Given the description of an element on the screen output the (x, y) to click on. 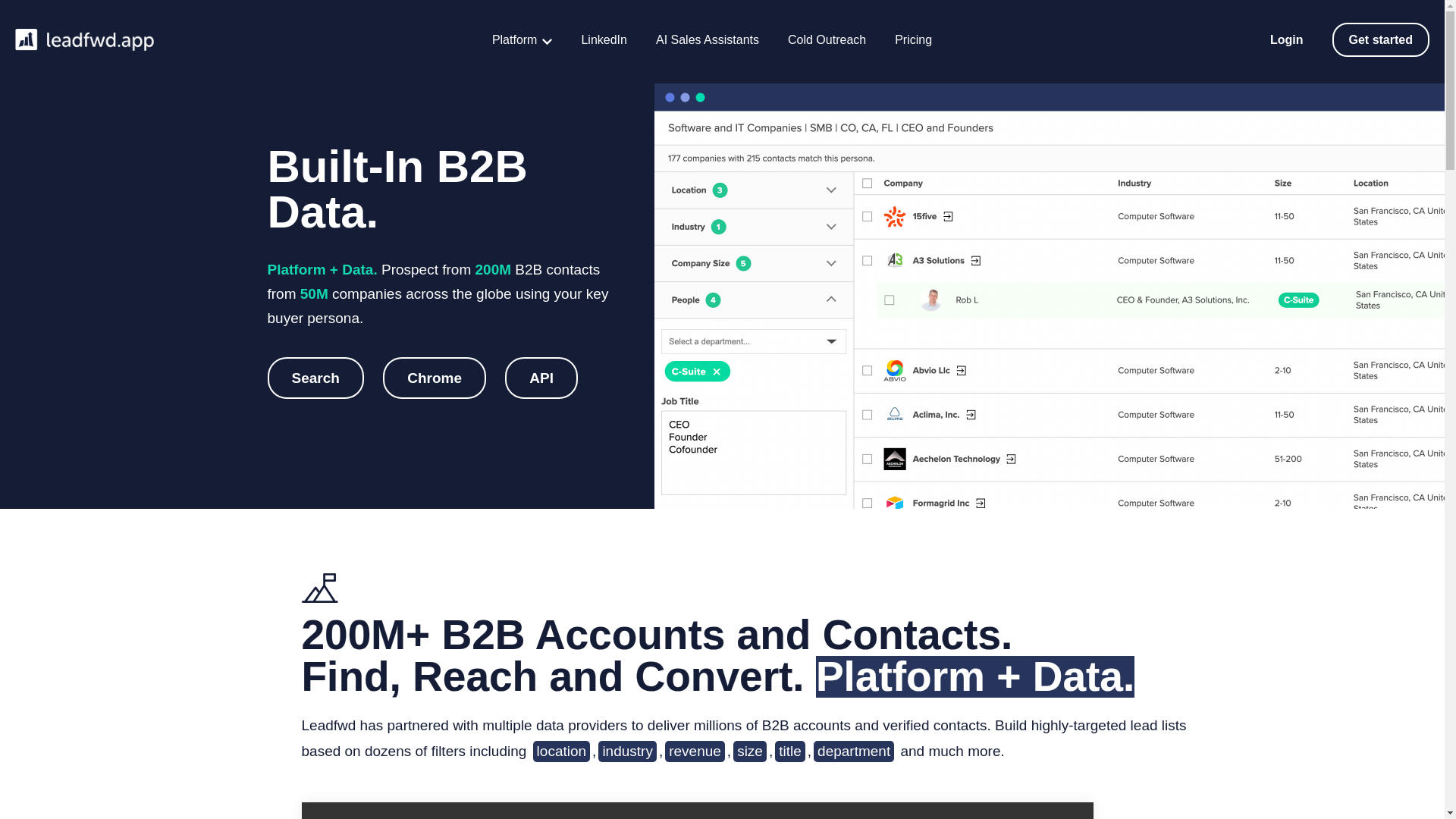
Pricing (913, 39)
Cold Outreach (826, 39)
Login (1286, 39)
Platform (522, 39)
AI Sales Assistants (707, 39)
LinkedIn (603, 39)
